Given the description of an element on the screen output the (x, y) to click on. 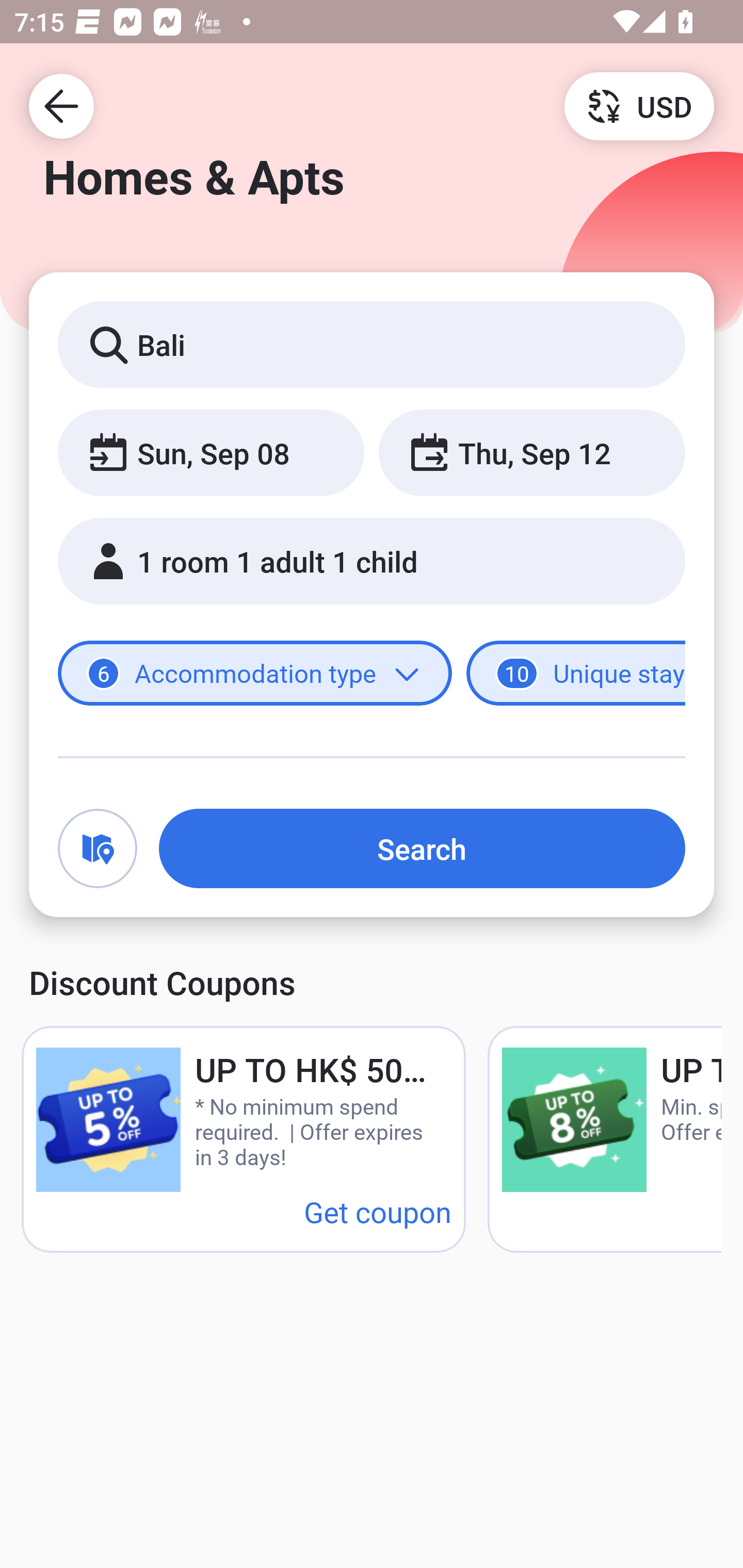
USD (639, 105)
Bali (371, 344)
Sun, Sep 08 (210, 452)
Thu, Sep 12 (531, 452)
1 room 1 adult 1 child (371, 561)
6 Accommodation type (254, 673)
10 Unique stays (575, 673)
Search (422, 848)
Get coupon (377, 1211)
